Given the description of an element on the screen output the (x, y) to click on. 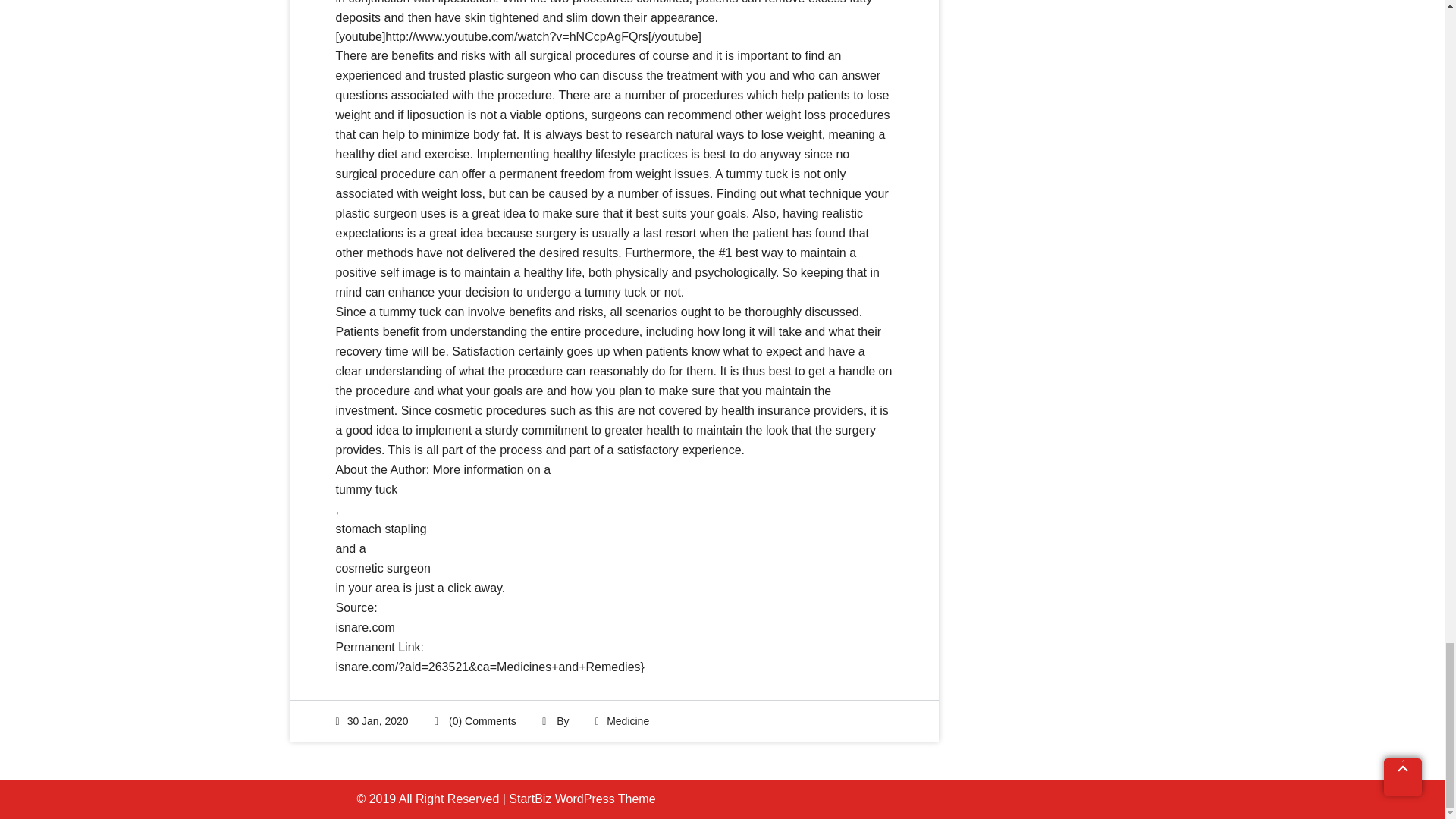
Medicine (628, 720)
30 Jan, 2020 (370, 720)
